Given the description of an element on the screen output the (x, y) to click on. 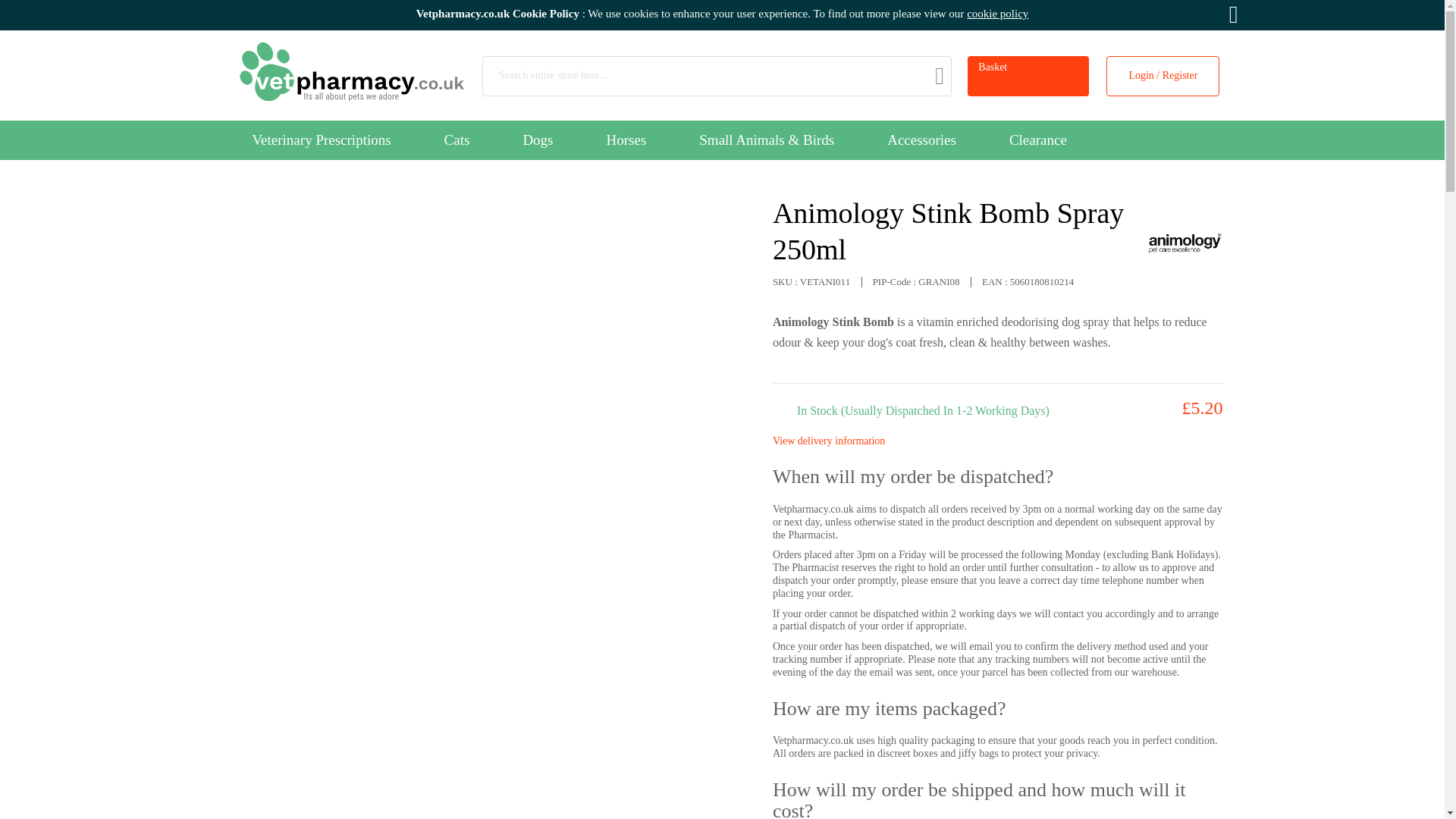
Dogs (536, 139)
Basket (1028, 76)
Cats (456, 139)
Vet pharmacy (331, 69)
Veterinary Prescriptions (320, 139)
Veterinary Prescriptions (320, 139)
Cats (456, 139)
cookie policy (996, 13)
